Given the description of an element on the screen output the (x, y) to click on. 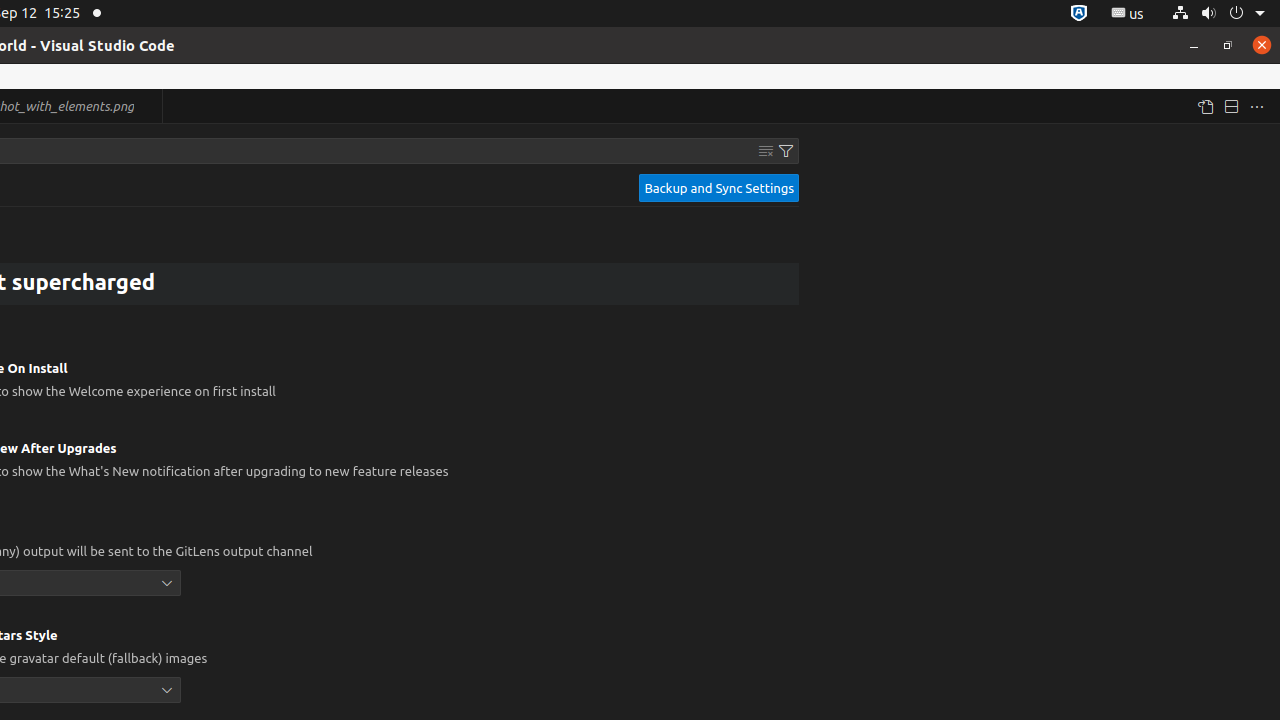
Split Editor Right (Ctrl+\) [Alt] Split Editor Down Element type: push-button (1231, 106)
Filter Settings Element type: push-button (786, 151)
Open Settings (JSON) Element type: push-button (1205, 106)
